Given the description of an element on the screen output the (x, y) to click on. 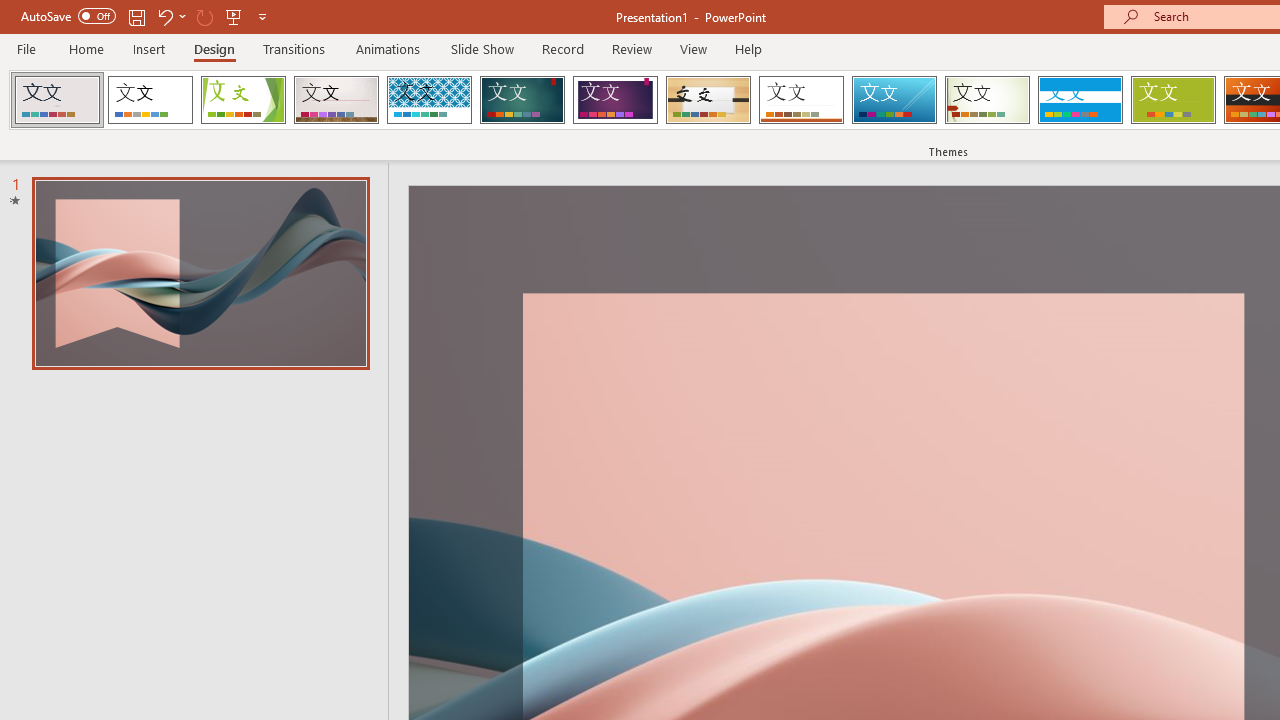
Basis (1172, 100)
Ion (522, 100)
Retrospect (801, 100)
Banded (1080, 100)
Organic (708, 100)
Wisp (987, 100)
Slice (893, 100)
Office Theme (150, 100)
